Given the description of an element on the screen output the (x, y) to click on. 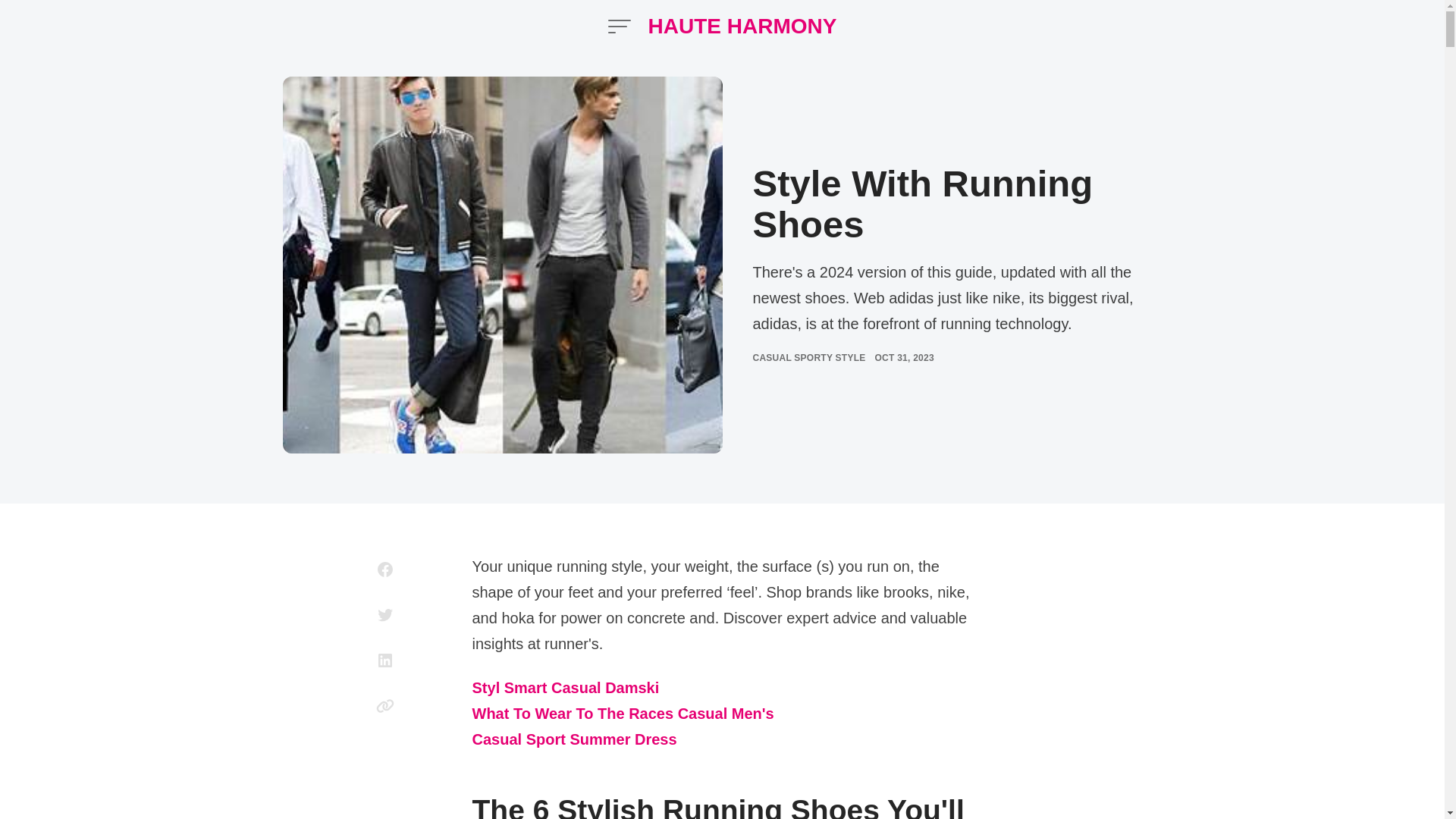
HAUTE HARMONY (742, 26)
Casual Sport Summer Dress (574, 740)
Copy link (384, 705)
What To Wear To The Races Casual Men's (622, 714)
Share on Twitter (384, 615)
Styl Smart Casual Damski (565, 688)
CASUAL SPORTY STYLE (808, 357)
Share on LinkedIn (384, 660)
Share on Facebook (384, 569)
